Given the description of an element on the screen output the (x, y) to click on. 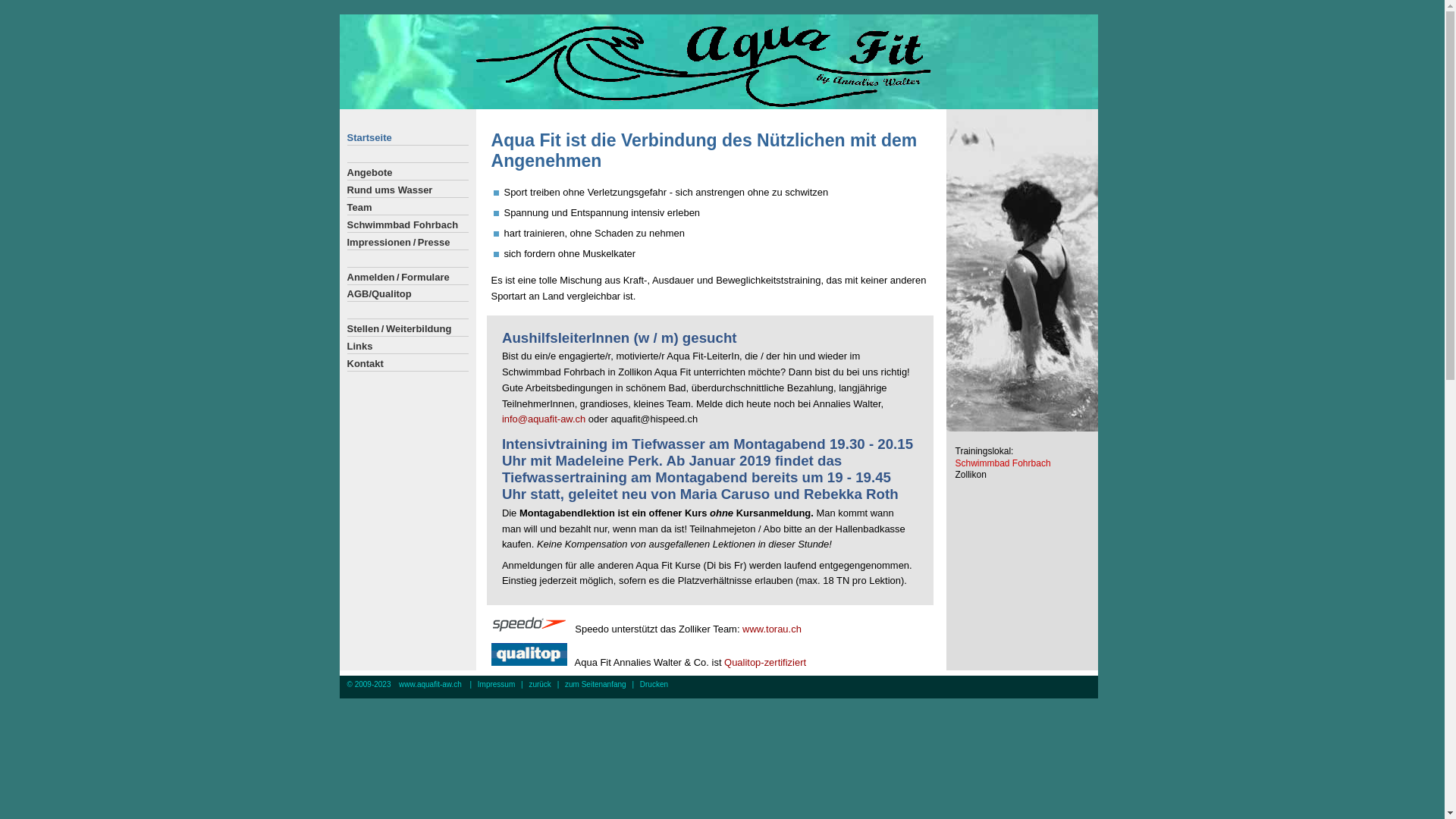
Kontakt Element type: text (407, 363)
www.torau.ch Element type: text (771, 628)
Qualitop-zertifiziert Element type: text (765, 662)
Rund ums Wasser Element type: text (407, 190)
Links Element type: text (407, 346)
AGB/Qualitop Element type: text (407, 294)
Impressum Element type: text (495, 684)
Drucken Element type: text (653, 684)
info@aquafit-aw.ch Element type: text (543, 418)
Schwimmbad Fohrbach Element type: text (1003, 463)
zum Seitenanfang Element type: text (595, 684)
Team Element type: text (407, 207)
Schwimmbad Fohrbach Element type: text (407, 225)
www.aquafit-aw.ch Element type: text (430, 684)
Angebote Element type: text (407, 172)
